Given the description of an element on the screen output the (x, y) to click on. 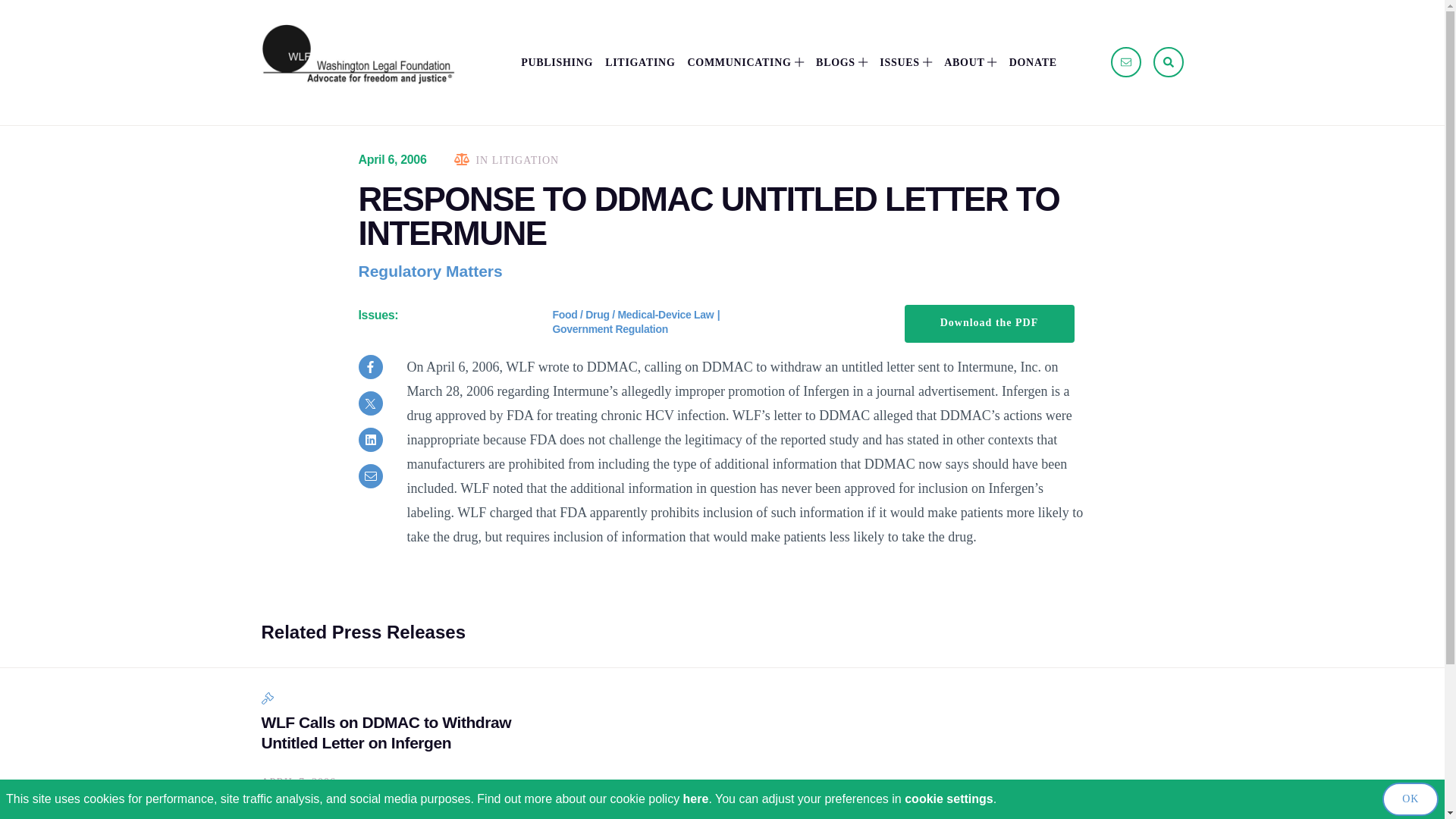
LITIGATING (640, 61)
DONATE (1033, 61)
BLOGS (841, 61)
Download the PDF (989, 323)
Government Regulation (608, 328)
PUBLISHING (556, 61)
ISSUES (905, 61)
COMMUNICATING (745, 61)
ABOUT (969, 61)
